Given the description of an element on the screen output the (x, y) to click on. 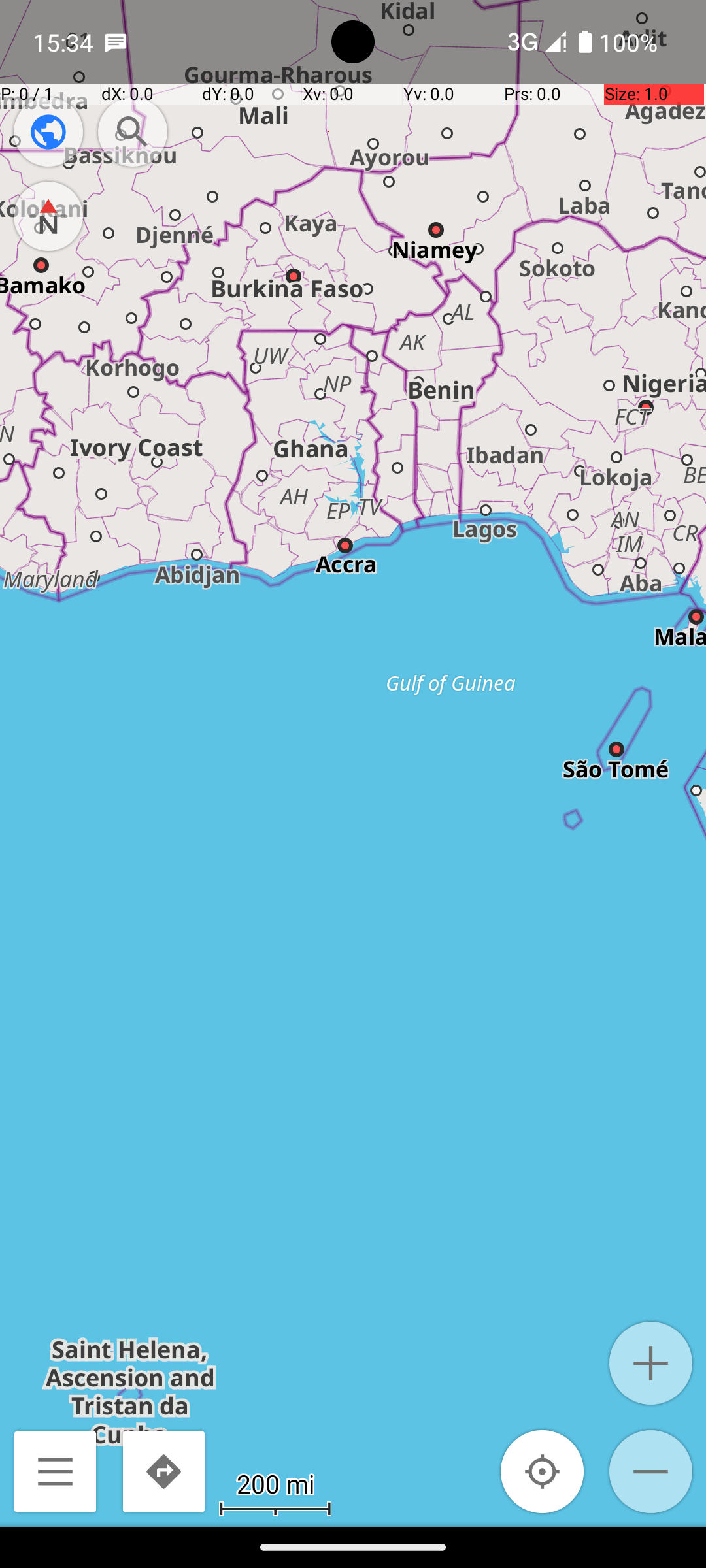
Map Element type: android.view.View (353, 763)
Configure map Element type: android.widget.ImageButton (48, 131)
North is up Element type: android.widget.ImageButton (48, 216)
Back to menu Element type: android.widget.ImageButton (55, 1471)
Route Element type: android.widget.ImageButton (163, 1471)
200 mi Element type: android.widget.TextView (274, 1483)
Position not yet known. Element type: android.widget.ImageButton (542, 1471)
Zoom in Element type: android.widget.ImageButton (650, 1362)
Zoom out Element type: android.widget.ImageButton (650, 1471)
